Given the description of an element on the screen output the (x, y) to click on. 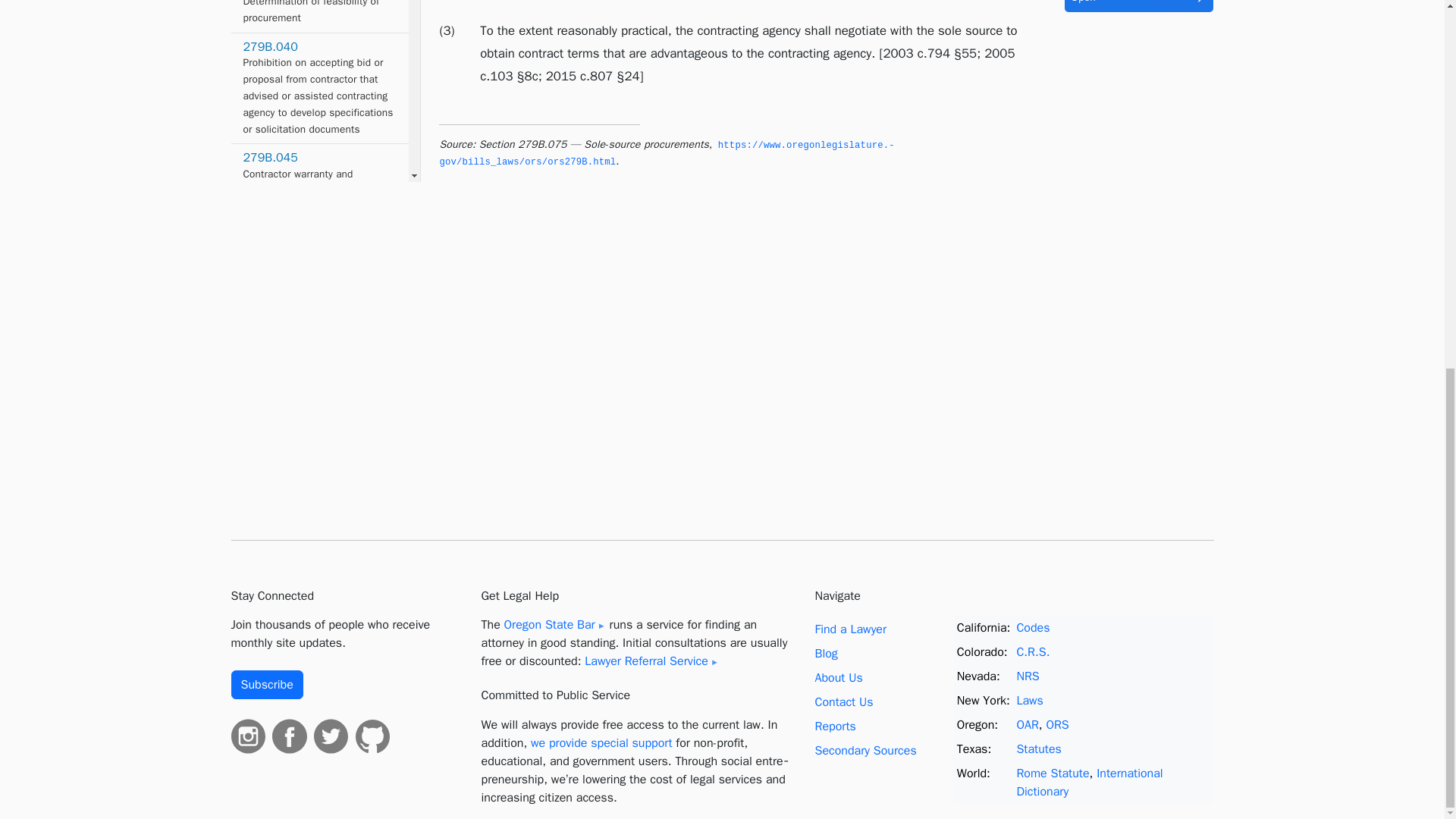
Advertisement (319, 216)
